Given the description of an element on the screen output the (x, y) to click on. 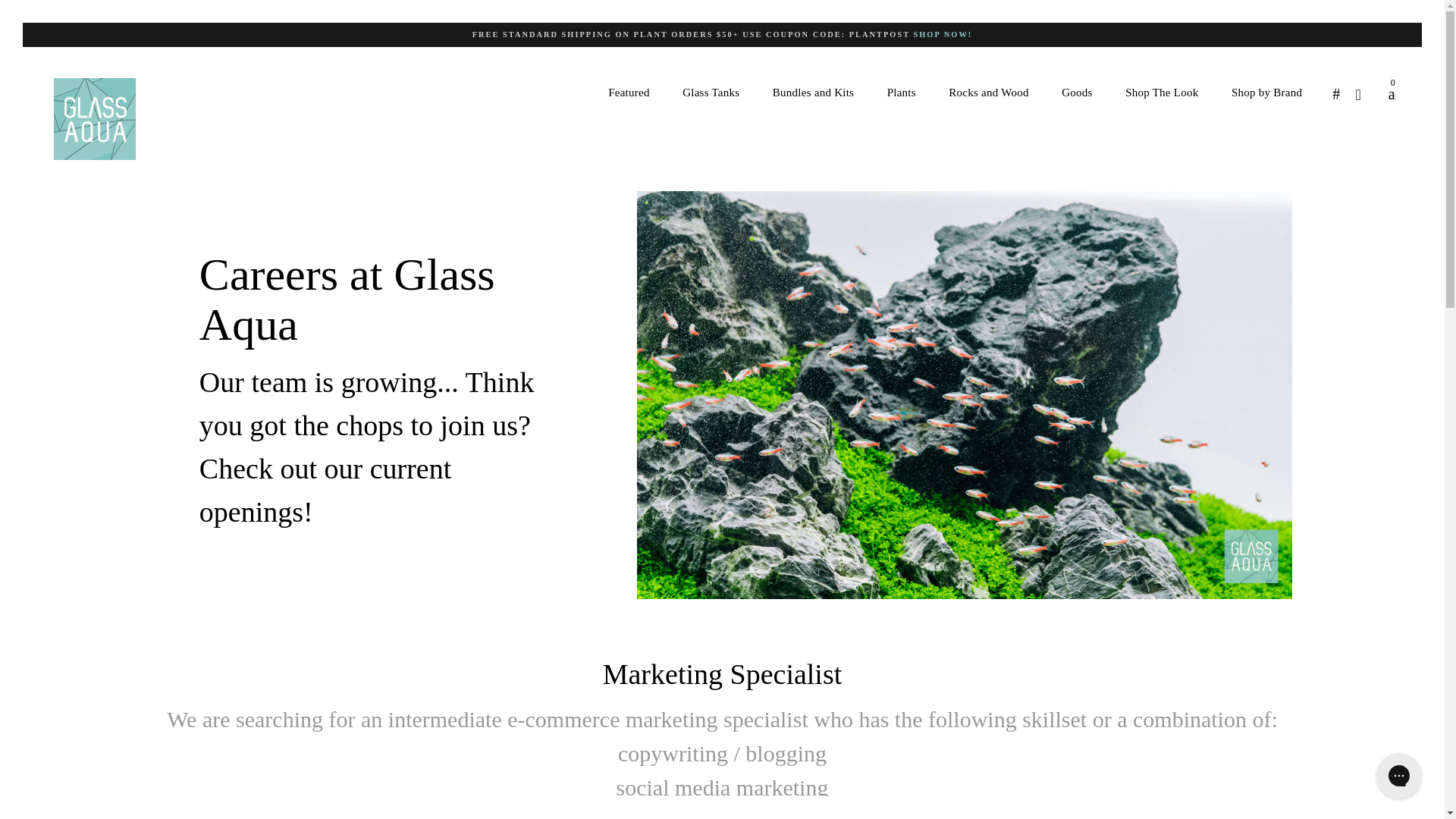
Glass Tanks (710, 92)
0 (1384, 94)
SHOP NOW! (942, 34)
Bundles and Kits (813, 92)
Featured (627, 92)
